Given the description of an element on the screen output the (x, y) to click on. 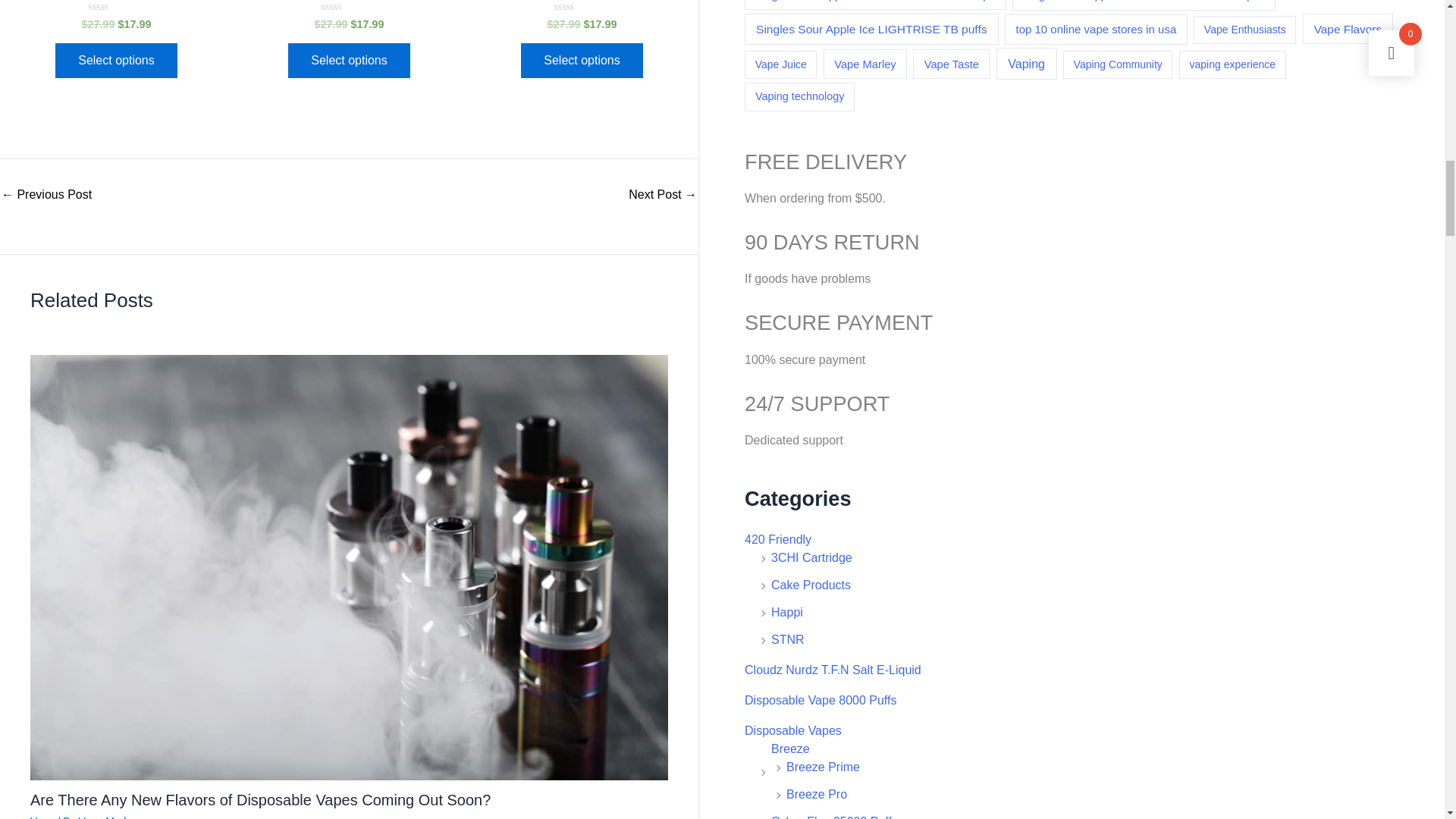
View all posts by Vape Marley (108, 816)
Unlock Savings with Vapemarley.com Vape Coupons! (662, 194)
